Given the description of an element on the screen output the (x, y) to click on. 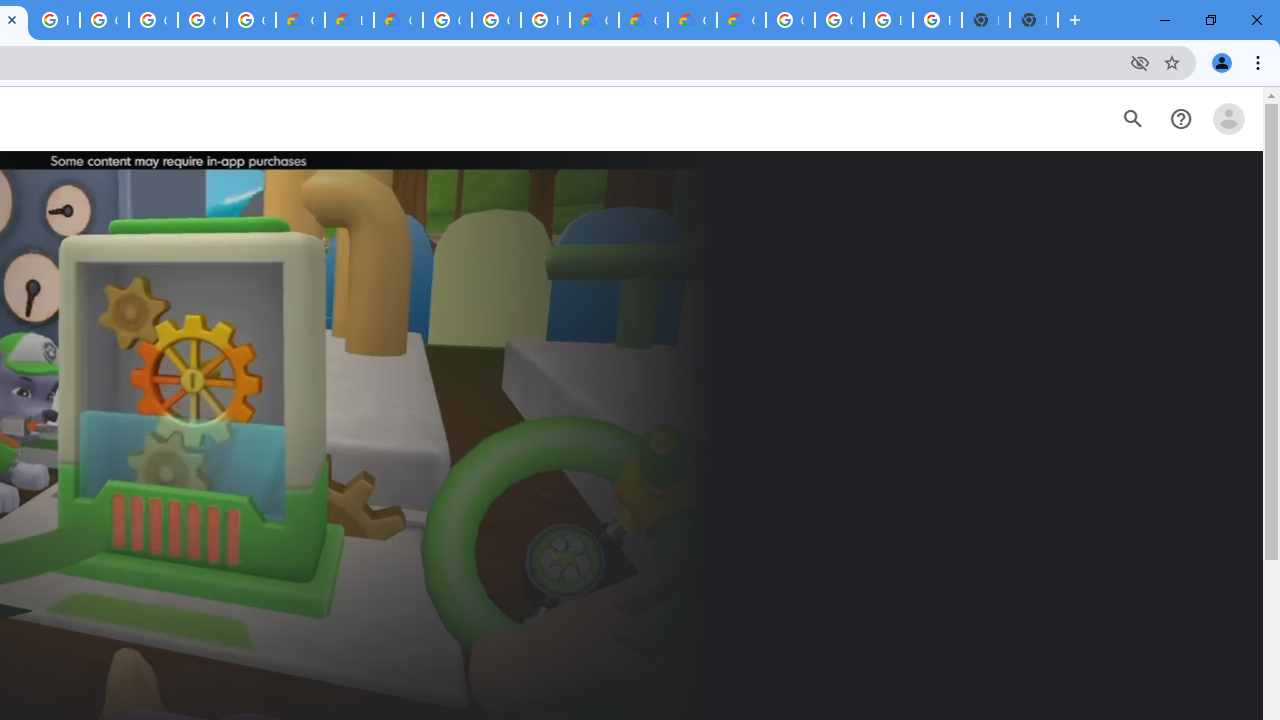
Google Cloud Pricing Calculator (643, 20)
Google Workspace - Specific Terms (201, 20)
Google Cloud Platform (839, 20)
Google Cloud Platform (496, 20)
